Given the description of an element on the screen output the (x, y) to click on. 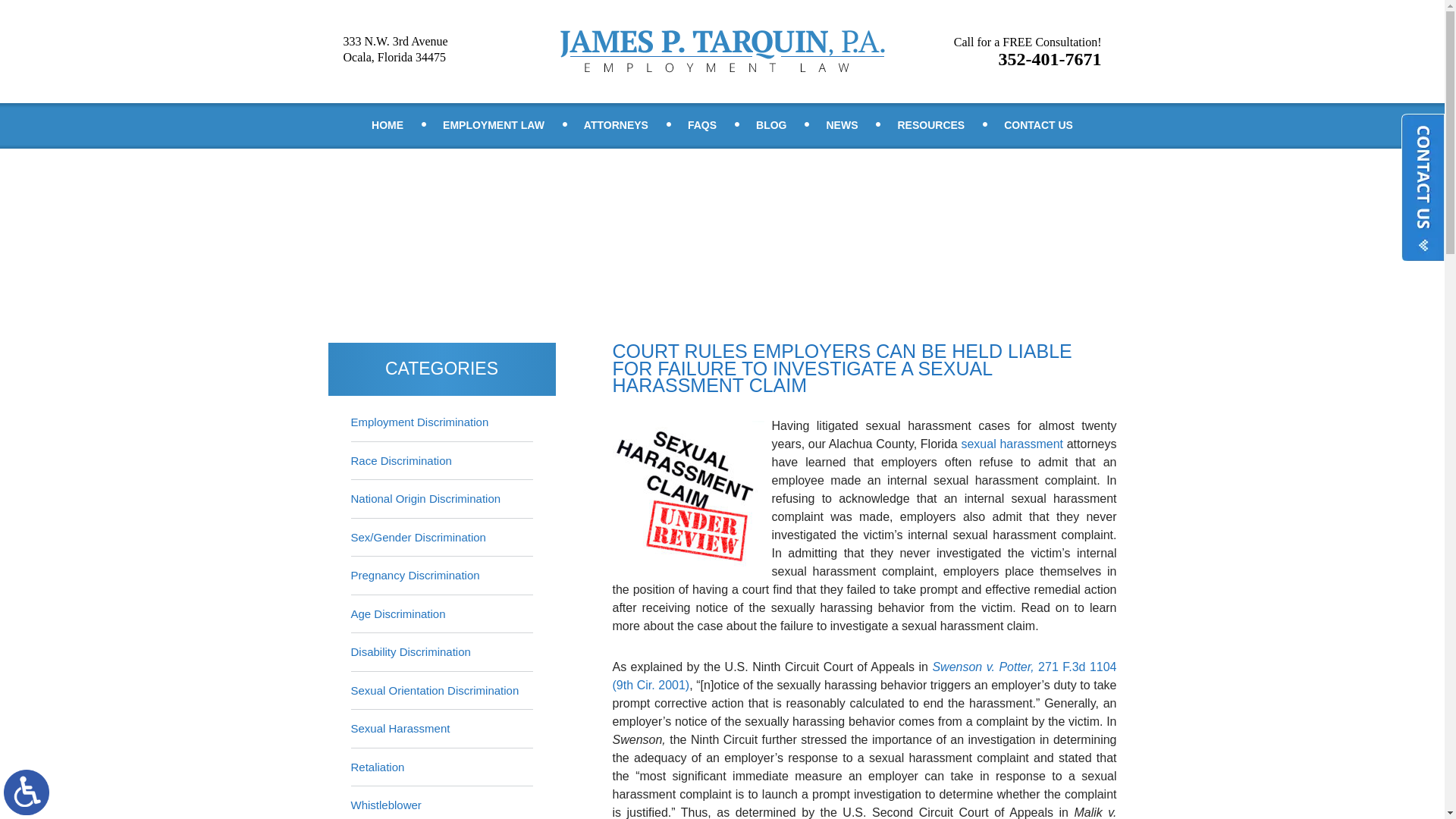
Switch to ADA Accessible Theme (26, 791)
HOME (387, 125)
sexual harassment (1027, 52)
RESOURCES (1011, 443)
NEWS (930, 125)
FAQS (841, 125)
BLOG (702, 125)
EMPLOYMENT LAW (771, 125)
CONTACT US (493, 125)
